Given the description of an element on the screen output the (x, y) to click on. 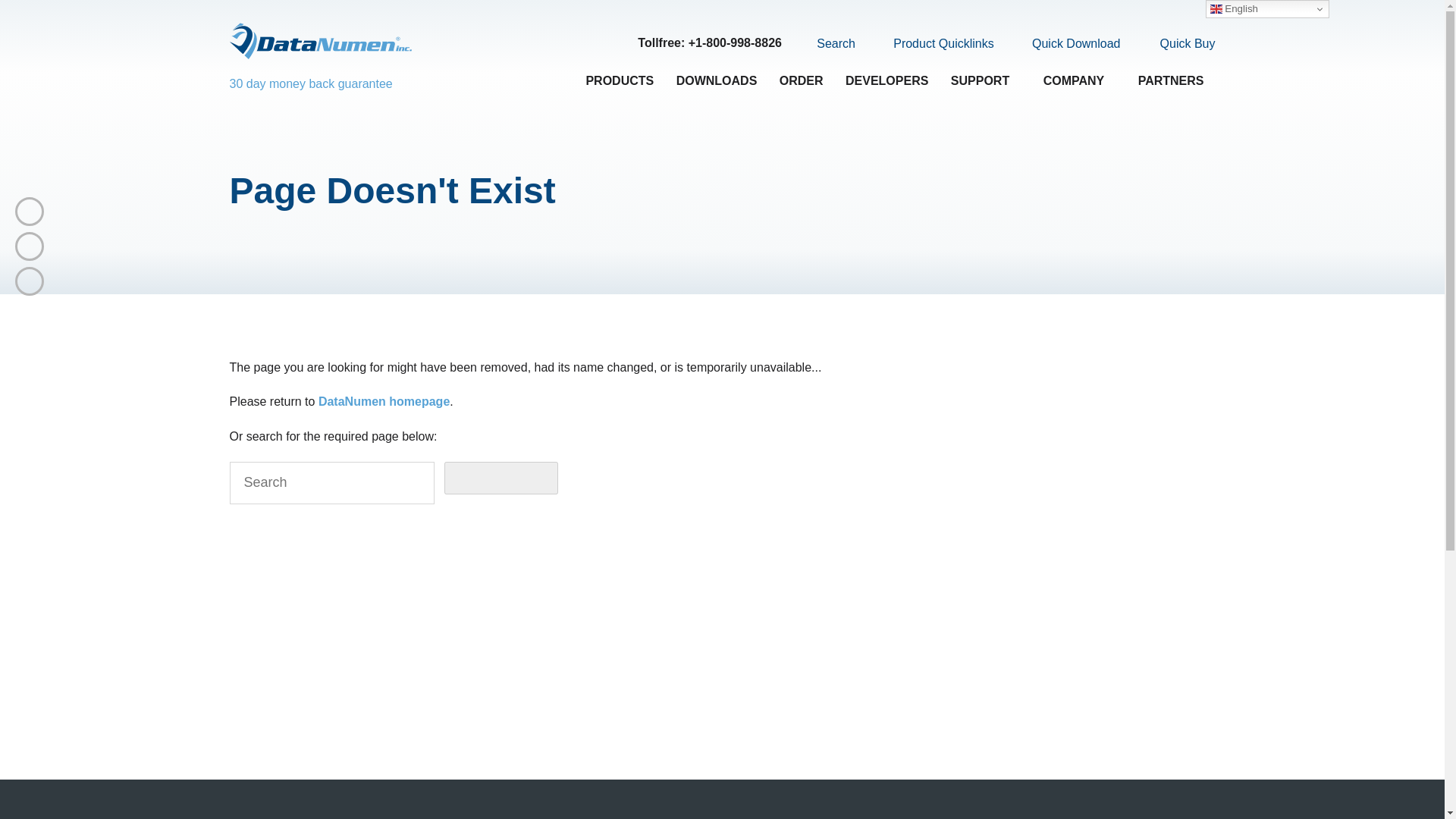
Search for: (330, 482)
Product Quicklinks (934, 44)
Quick Download (1066, 44)
Search (827, 43)
